Given the description of an element on the screen output the (x, y) to click on. 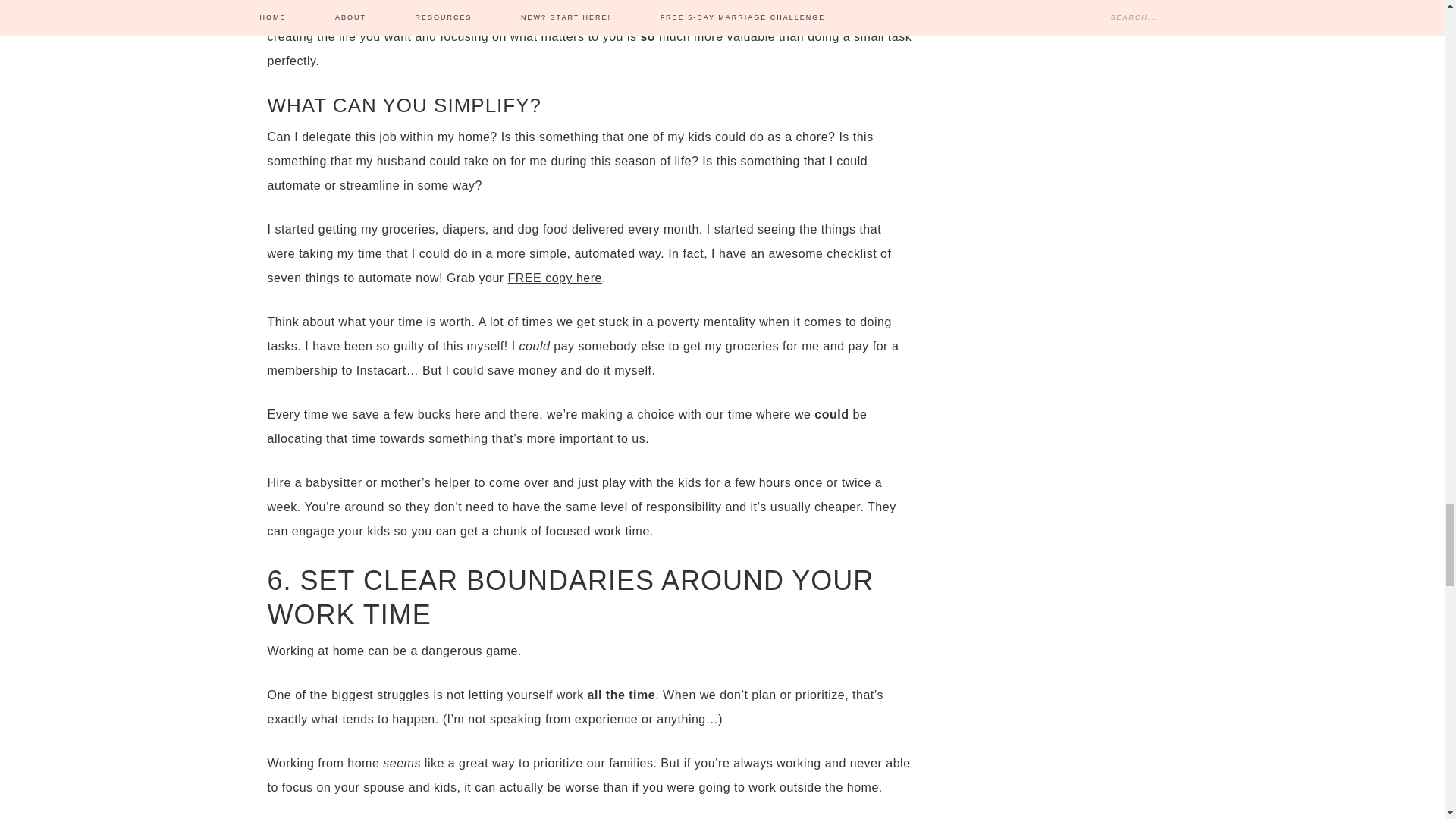
FREE copy here (555, 277)
